Given the description of an element on the screen output the (x, y) to click on. 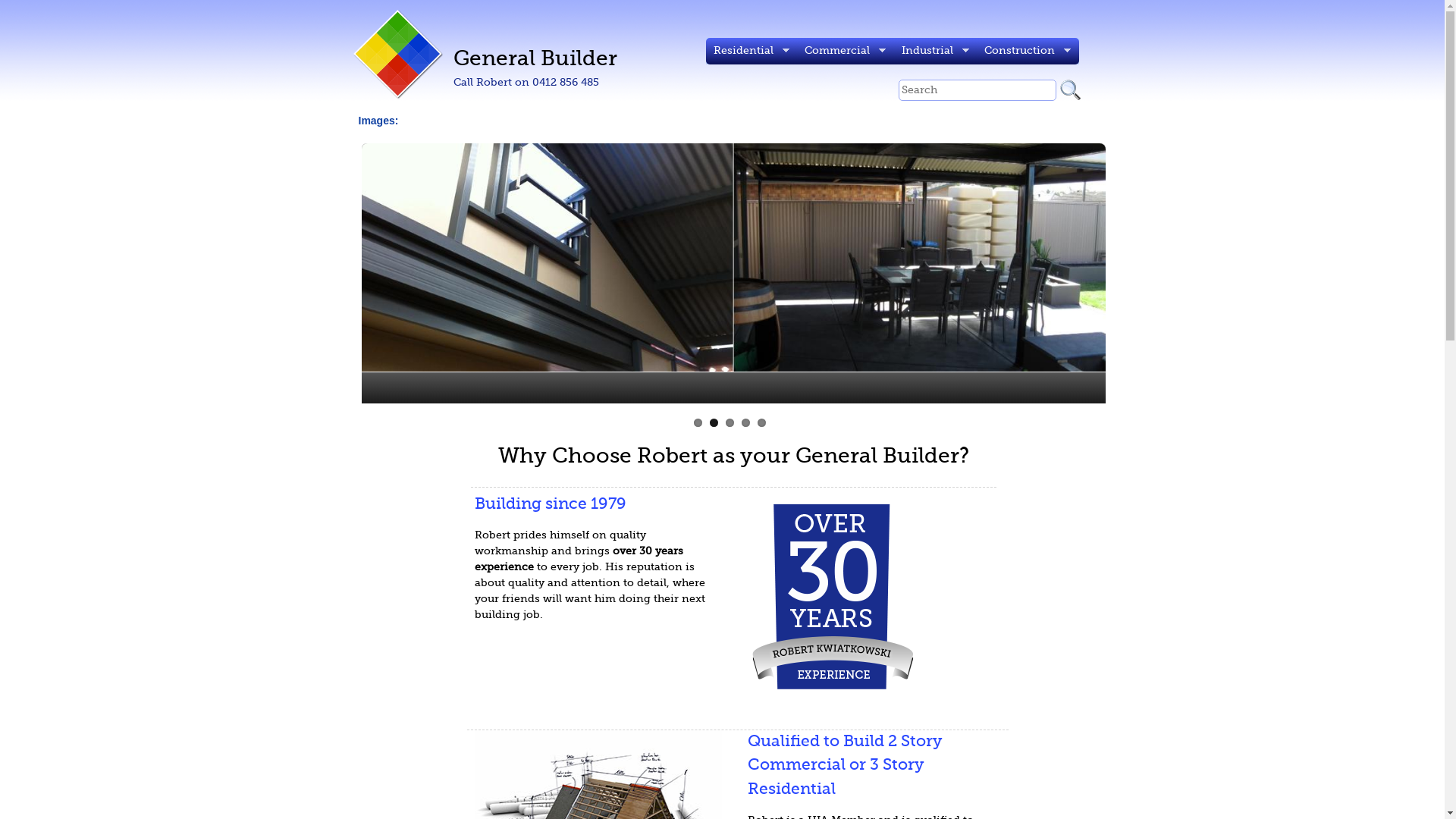
General Builder Element type: text (535, 59)
Enter the terms you wish to search for. Element type: hover (976, 89)
Skip to main content Element type: text (658, 0)
Search Element type: text (1077, 89)
Why Choose Robert as your General Builder? Element type: text (733, 456)
